Given the description of an element on the screen output the (x, y) to click on. 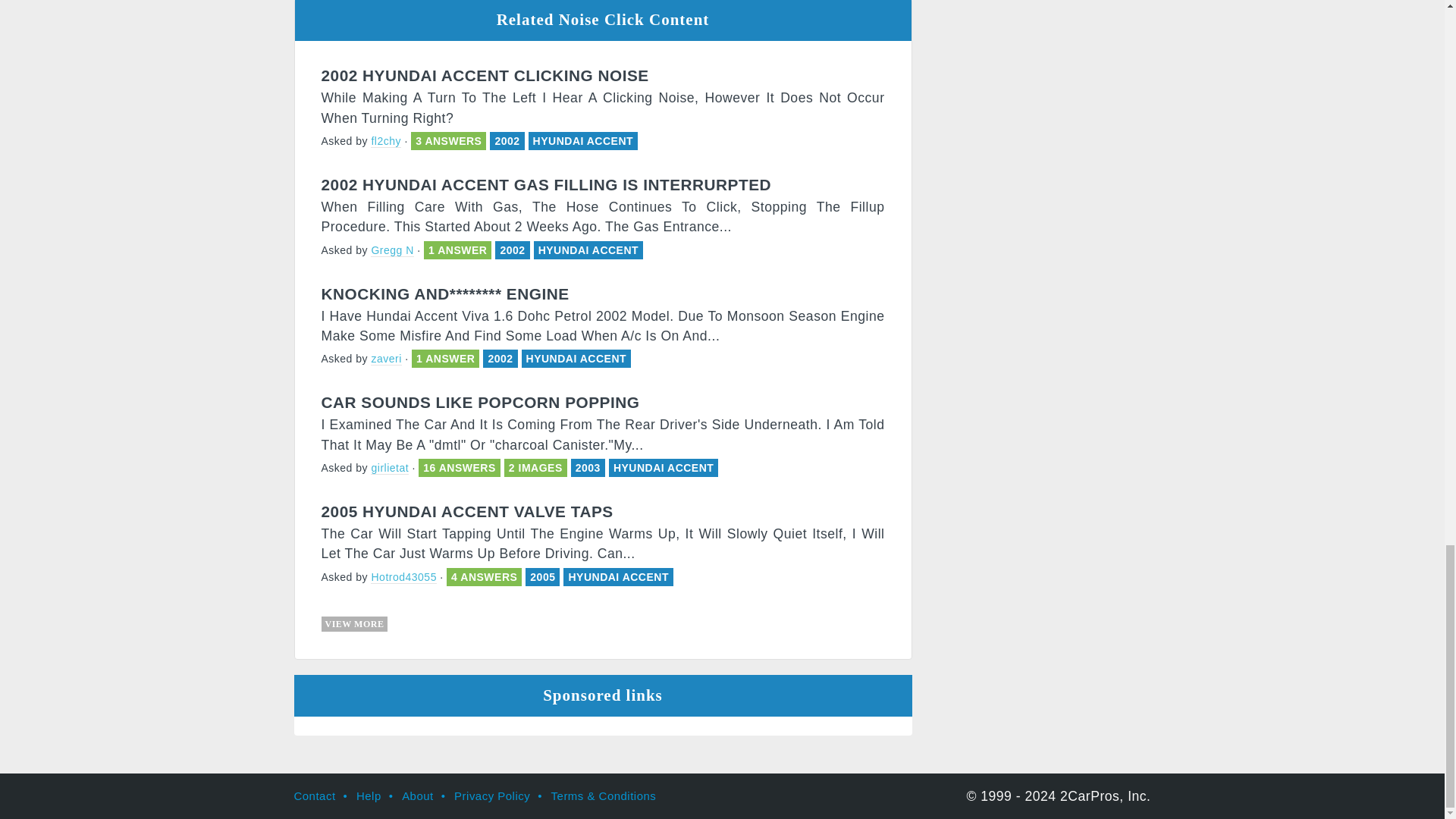
HYUNDAI ACCENT (575, 358)
HYUNDAI ACCENT (582, 141)
Gregg N (392, 250)
HYUNDAI ACCENT (662, 467)
HYUNDAI ACCENT (588, 250)
zaveri (386, 358)
fl2chy (386, 141)
girlietat (390, 468)
